Given the description of an element on the screen output the (x, y) to click on. 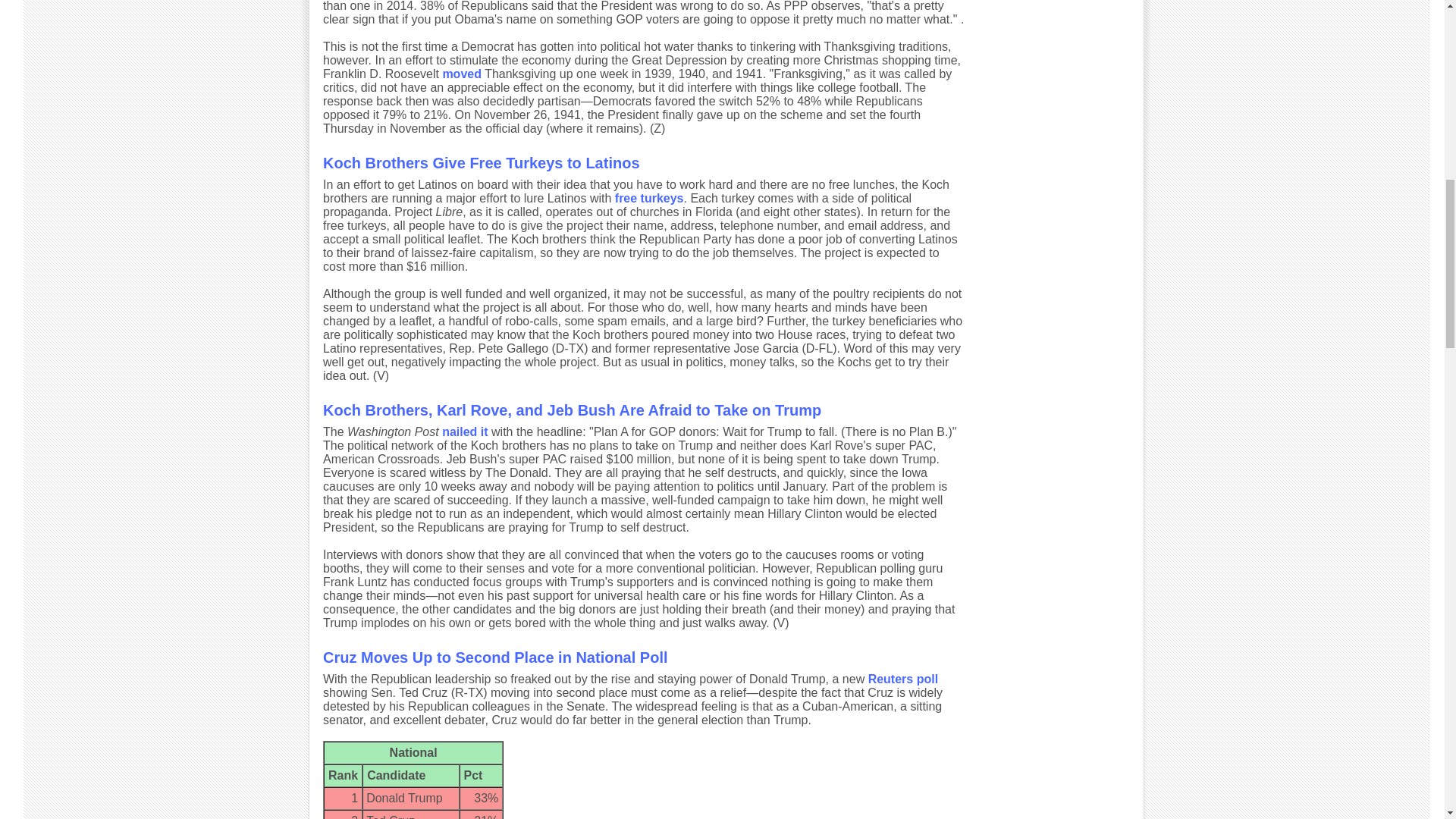
Cruz Moves Up to Second Place in National Poll (495, 657)
Reuters poll (902, 678)
Koch Brothers Give Free Turkeys to Latinos (481, 162)
free turkeys (649, 197)
moved (461, 73)
nailed it (464, 431)
